Given the description of an element on the screen output the (x, y) to click on. 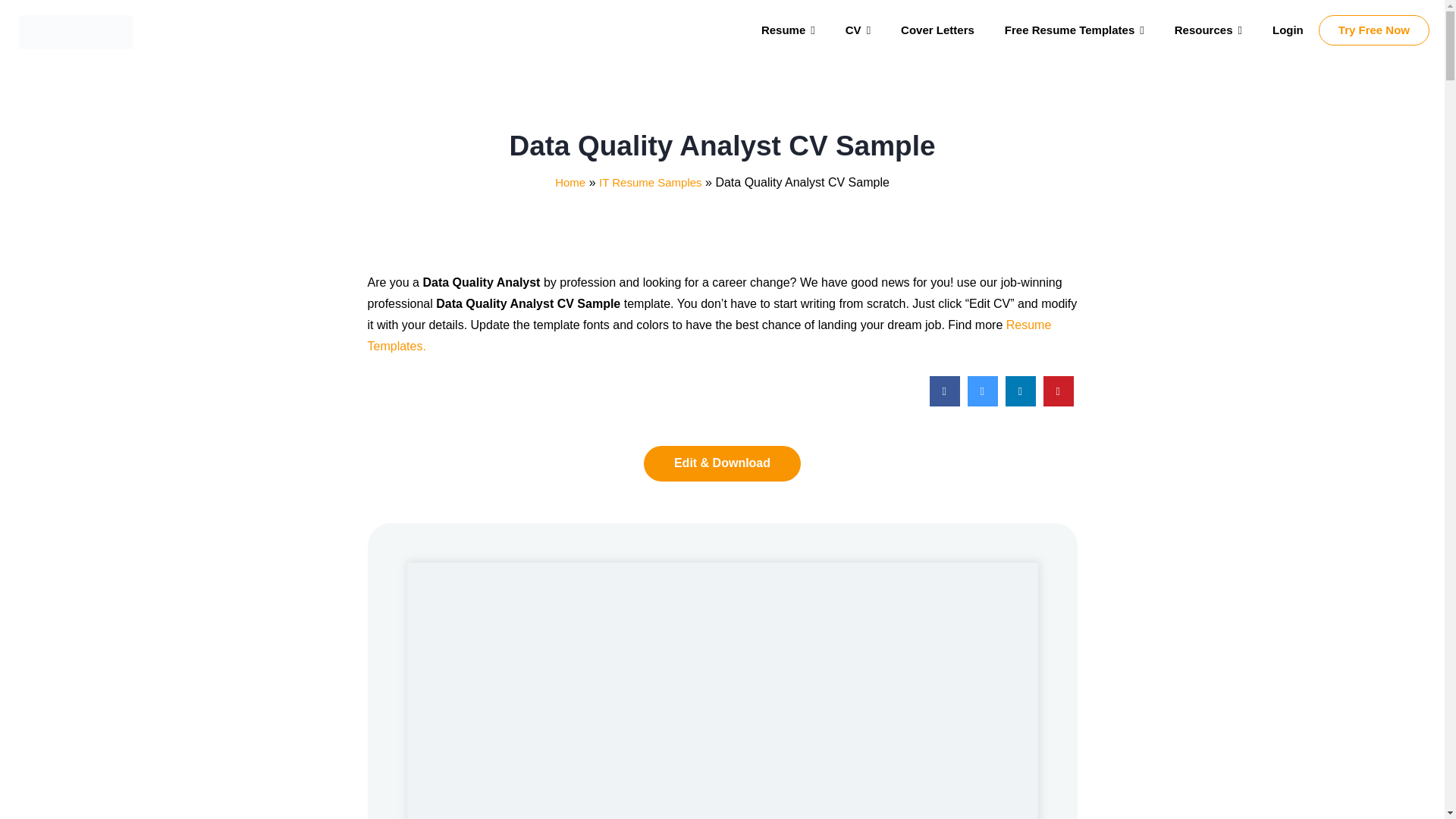
Share on Pinterest (1058, 401)
CV (857, 30)
Home (569, 182)
Free Resume Templates (1074, 30)
Try Free Now (1374, 30)
Resume (787, 30)
Share to LinkedIn (1020, 401)
Share on Twitter (982, 401)
Resume Templates. (708, 335)
IT Resume Samples (649, 182)
